Given the description of an element on the screen output the (x, y) to click on. 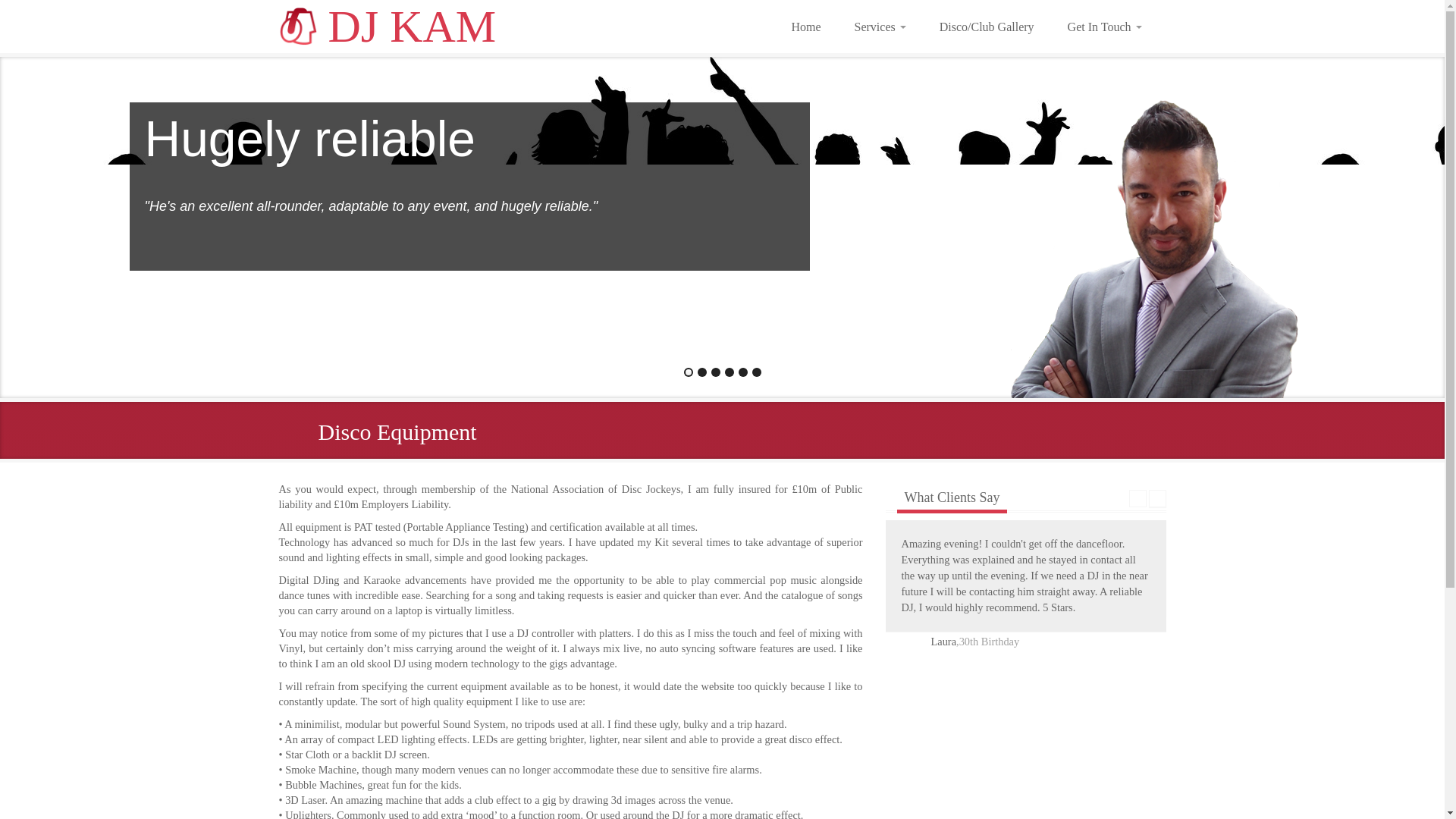
DJ KAM (389, 30)
Home (805, 25)
Services (880, 25)
Get In Touch (1104, 25)
